Given the description of an element on the screen output the (x, y) to click on. 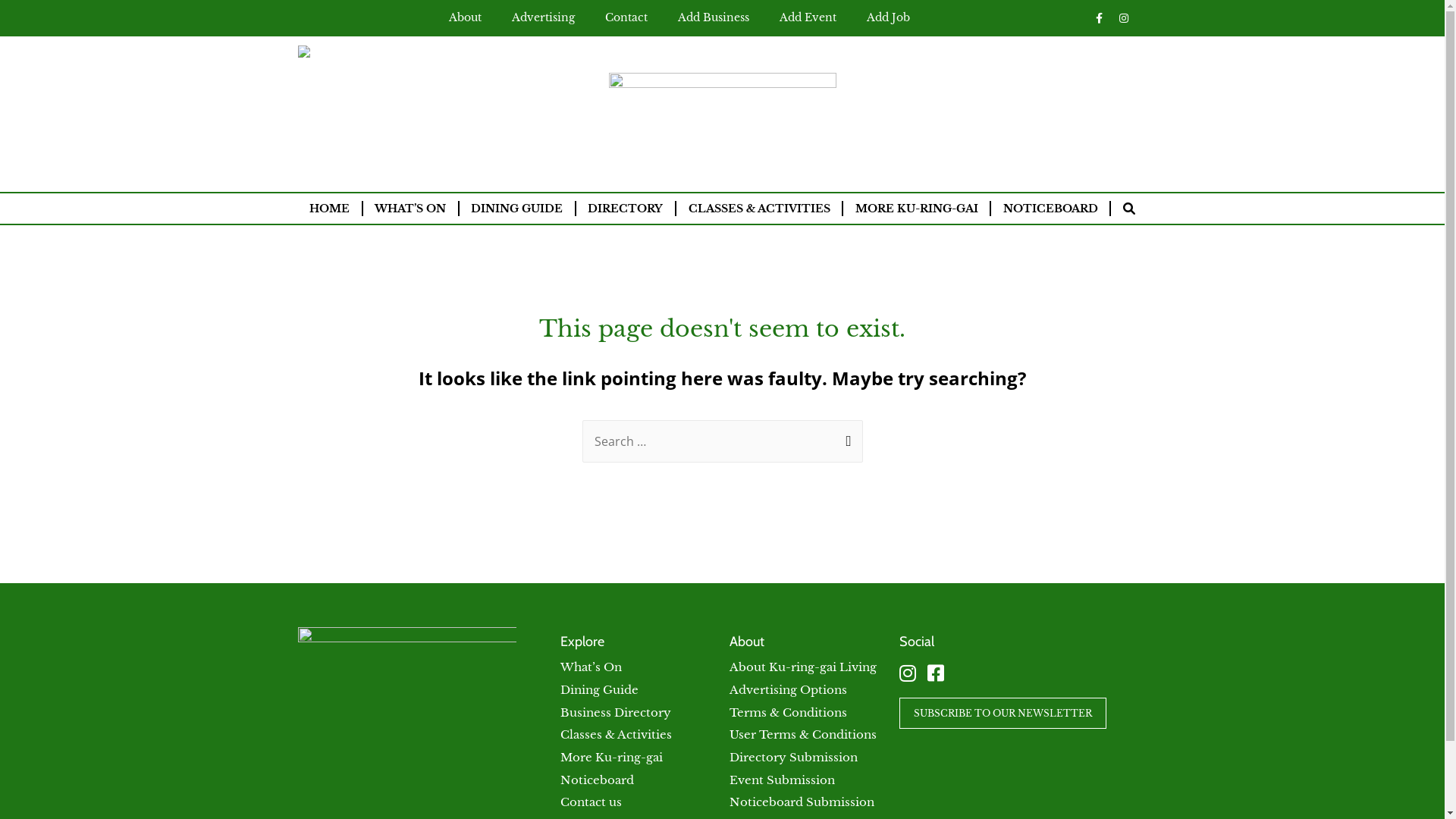
Advertising Options Element type: text (788, 689)
About Element type: text (464, 17)
Noticeboard Element type: text (596, 779)
HOME Element type: text (328, 208)
Dining Guide Element type: text (599, 689)
DIRECTORY Element type: text (625, 208)
More Ku-ring-gai Element type: text (611, 756)
Noticeboard Submission Element type: text (801, 801)
SUBSCRIBE TO OUR NEWSLETTER Element type: text (1002, 712)
MORE KU-RING-GAI Element type: text (916, 208)
Directory Submission Element type: text (793, 756)
Add Business Element type: text (713, 17)
Add Job Element type: text (887, 17)
About Ku-ring-gai Living Element type: text (802, 666)
NOTICEBOARD Element type: text (1050, 208)
Contact us Element type: text (590, 801)
Terms & Conditions Element type: text (788, 712)
CLASSES & ACTIVITIES Element type: text (758, 208)
Contact Element type: text (625, 17)
Add Event Element type: text (807, 17)
Advertising Element type: text (542, 17)
Classes & Activities Element type: text (615, 734)
User Terms & Conditions Element type: text (802, 734)
DINING GUIDE Element type: text (516, 208)
Business Directory Element type: text (615, 712)
Event Submission Element type: text (781, 779)
Search Element type: text (845, 441)
